Given the description of an element on the screen output the (x, y) to click on. 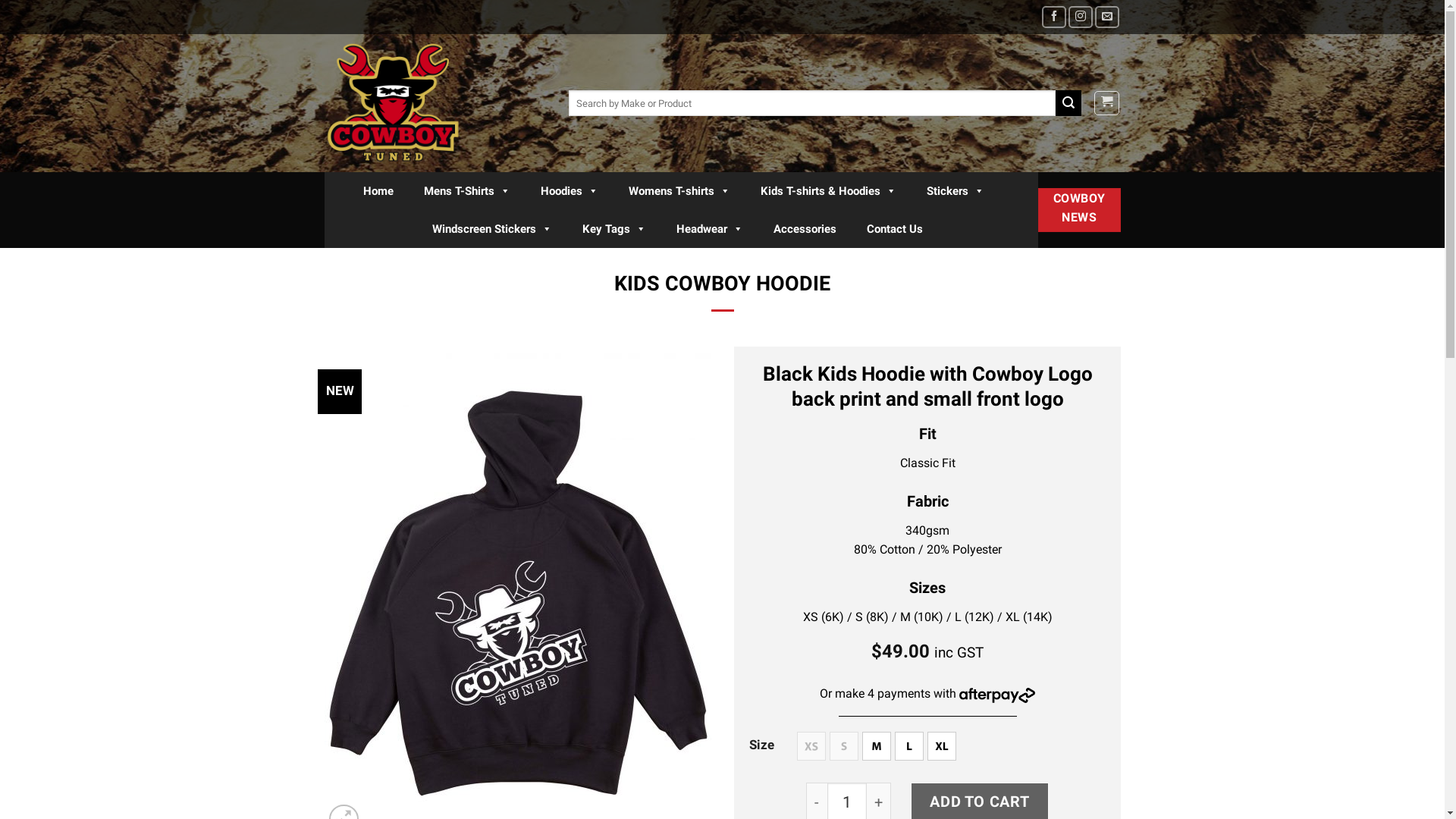
Windscreen Stickers Element type: text (495, 228)
Headwear Element type: text (713, 228)
Womens T-shirts Element type: text (683, 191)
Cowboy Tuned - 4WD and Outdoor Apparel Element type: hover (435, 103)
Small Element type: hover (843, 746)
Key Tags Element type: text (617, 228)
XSmall Element type: hover (810, 746)
Hoodies Element type: text (573, 191)
Accessories Element type: text (808, 228)
Contact Us Element type: text (898, 228)
Home Element type: text (381, 191)
Send us an email Element type: hover (1107, 17)
XLarge Element type: hover (940, 746)
Search Element type: text (1068, 103)
Large Element type: hover (908, 746)
Mens T-Shirts Element type: text (470, 191)
Stickers Element type: text (959, 191)
Kids T-shirts & Hoodies Element type: text (832, 191)
Follow on Instagram Element type: hover (1080, 17)
COWBOY NEWS Element type: text (1079, 210)
Follow on Facebook Element type: hover (1053, 17)
Medium Element type: hover (875, 746)
Cart Element type: hover (1106, 103)
